Given the description of an element on the screen output the (x, y) to click on. 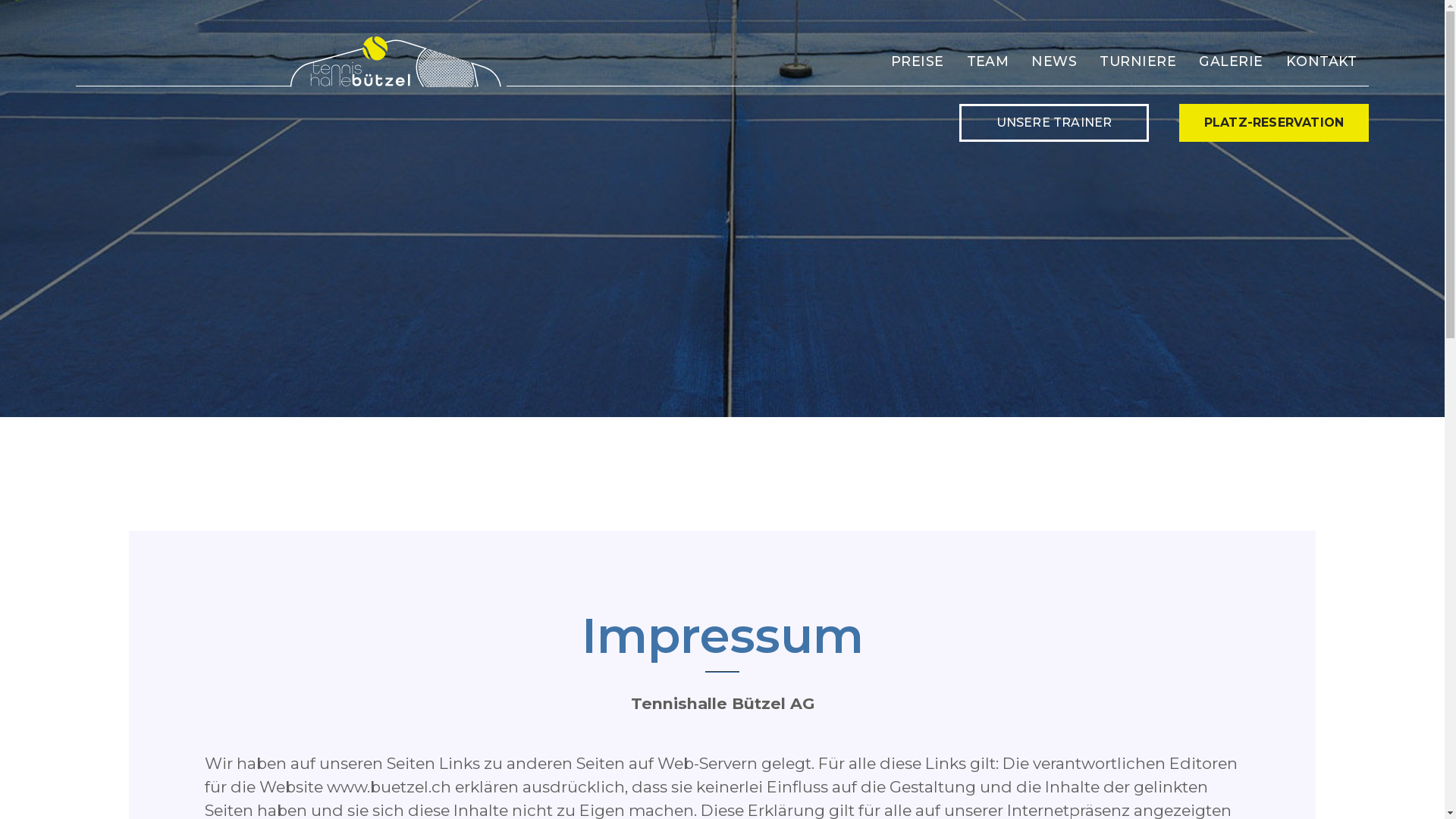
KONTAKT Element type: text (1321, 61)
PLATZ-RESERVATION Element type: text (1273, 122)
TURNIERE Element type: text (1137, 61)
TEAM Element type: text (987, 61)
PREISE Element type: text (917, 61)
UNSERE TRAINER Element type: text (1053, 122)
NEWS Element type: text (1053, 61)
GALERIE Element type: text (1230, 61)
